Given the description of an element on the screen output the (x, y) to click on. 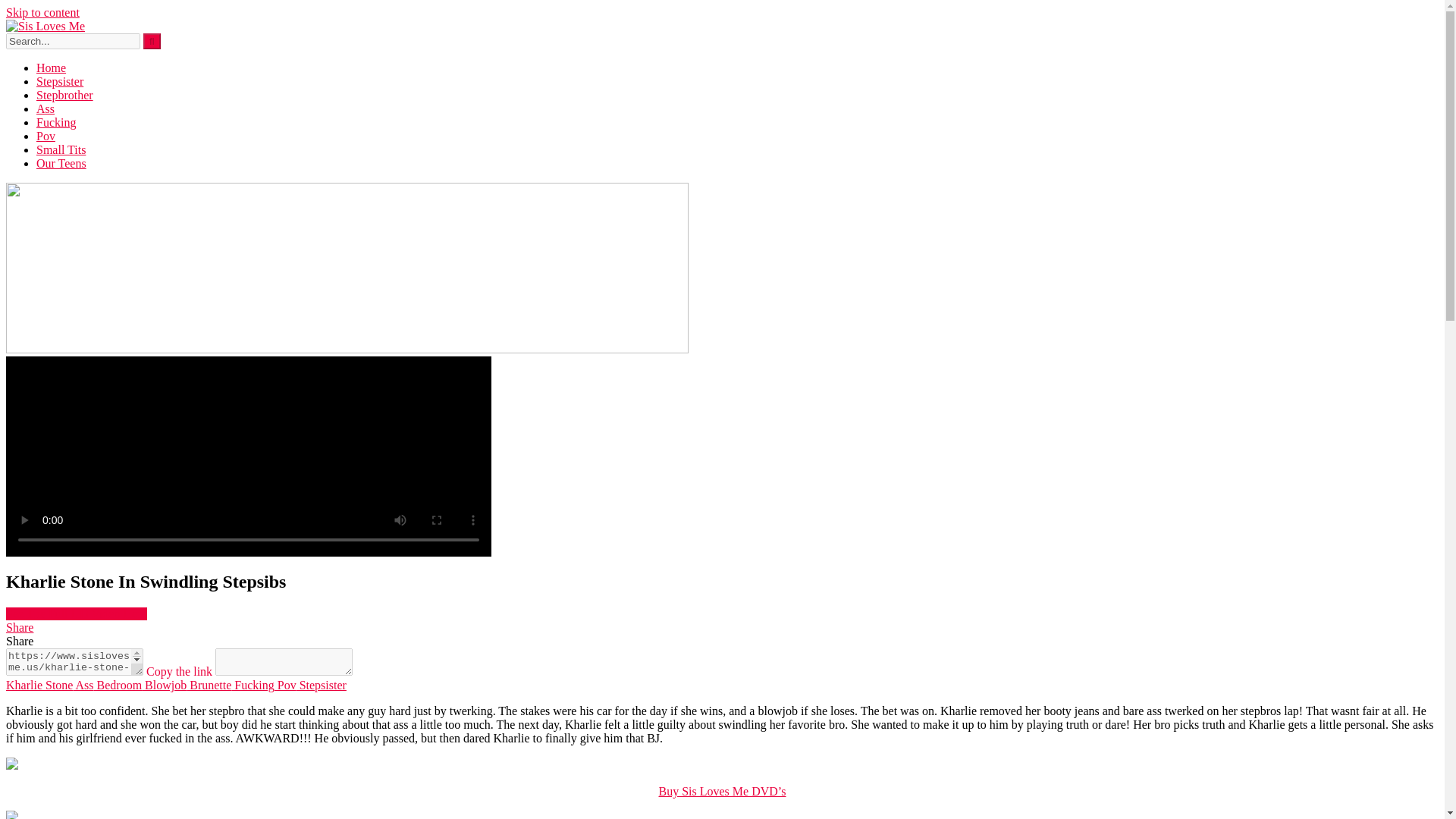
See The Full HD Video Here (76, 613)
Stepsister (59, 81)
Kharlie Stone (38, 684)
Brunette (208, 684)
Ass (45, 108)
Brunette (208, 684)
Copy the link (179, 671)
Pov (286, 684)
Fucking (252, 684)
Share (19, 626)
Small Tits (60, 149)
Our Teens (60, 163)
Search... (72, 41)
Stepbrother (64, 94)
Stepsister (321, 684)
